Given the description of an element on the screen output the (x, y) to click on. 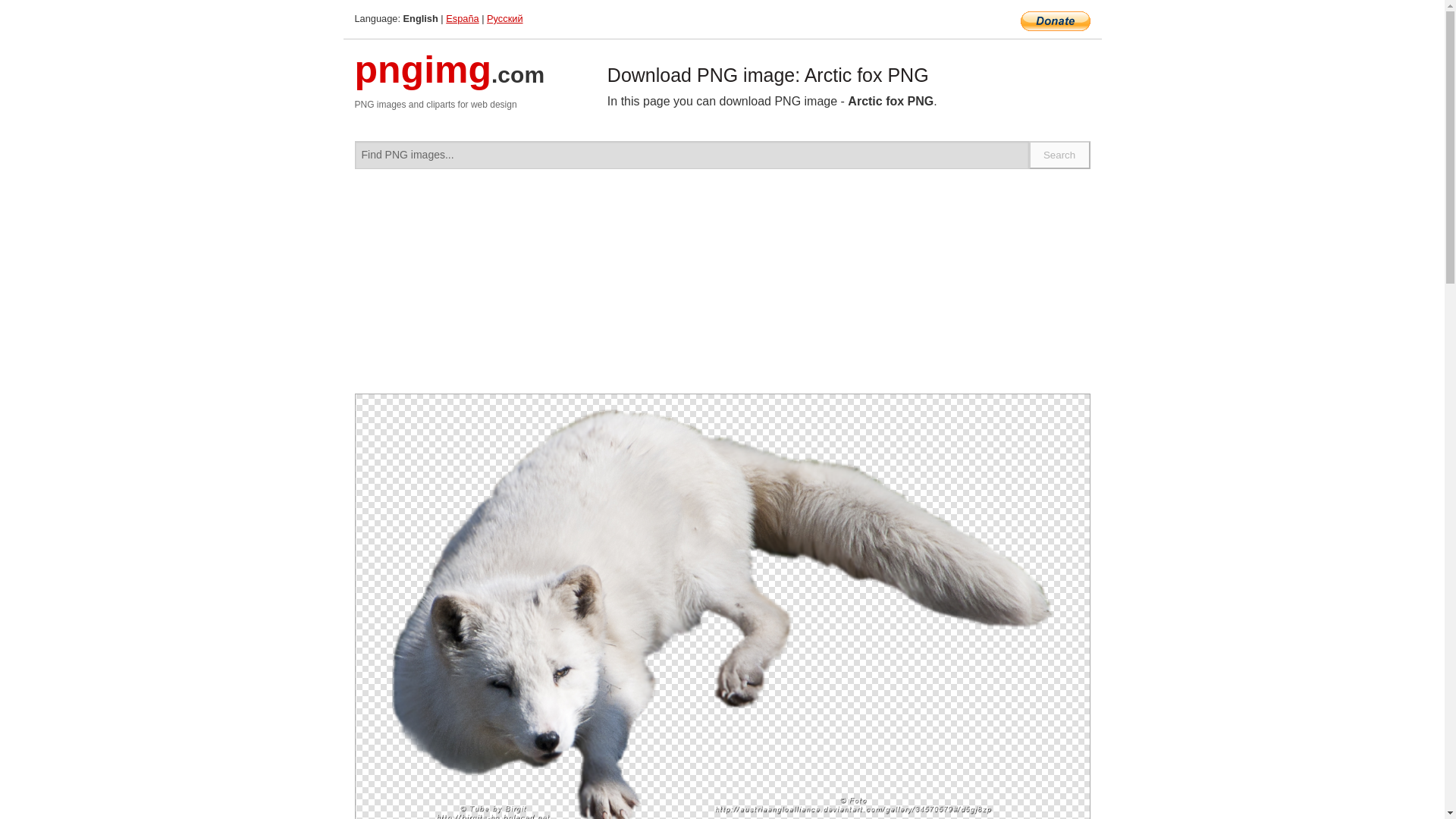
Search (1059, 154)
pngimg.com (449, 78)
Search (1059, 154)
